Given the description of an element on the screen output the (x, y) to click on. 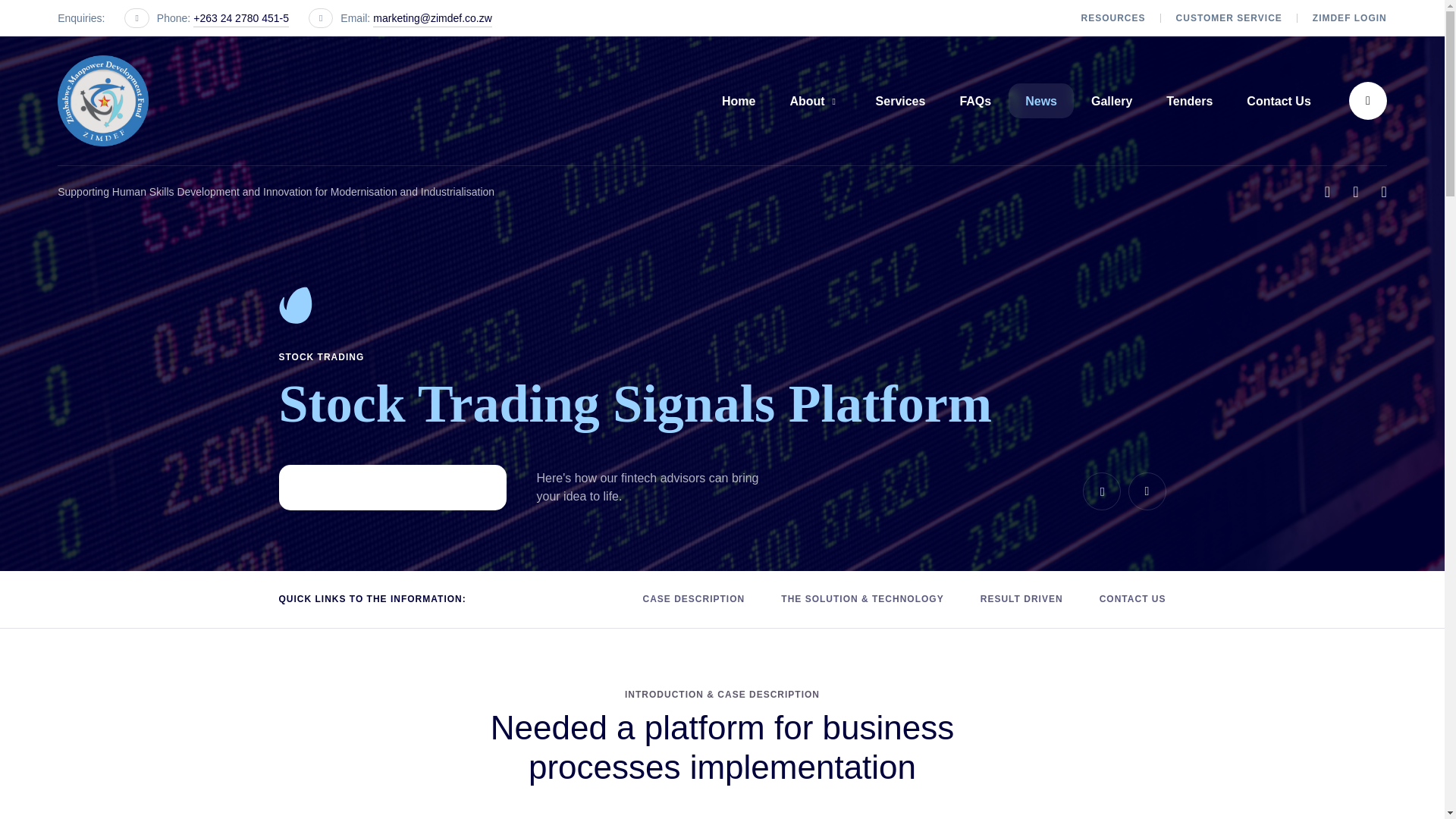
Search (1368, 100)
Services (901, 99)
RESOURCES (1113, 18)
ZIMDEF LOGIN (1350, 18)
Tenders (1189, 99)
CUSTOMER SERVICE (1229, 18)
About (815, 99)
FAQs (975, 99)
Contact Us (1278, 99)
STOCK TRADING (322, 357)
Gallery (1111, 99)
Home (738, 99)
News (1041, 99)
